Given the description of an element on the screen output the (x, y) to click on. 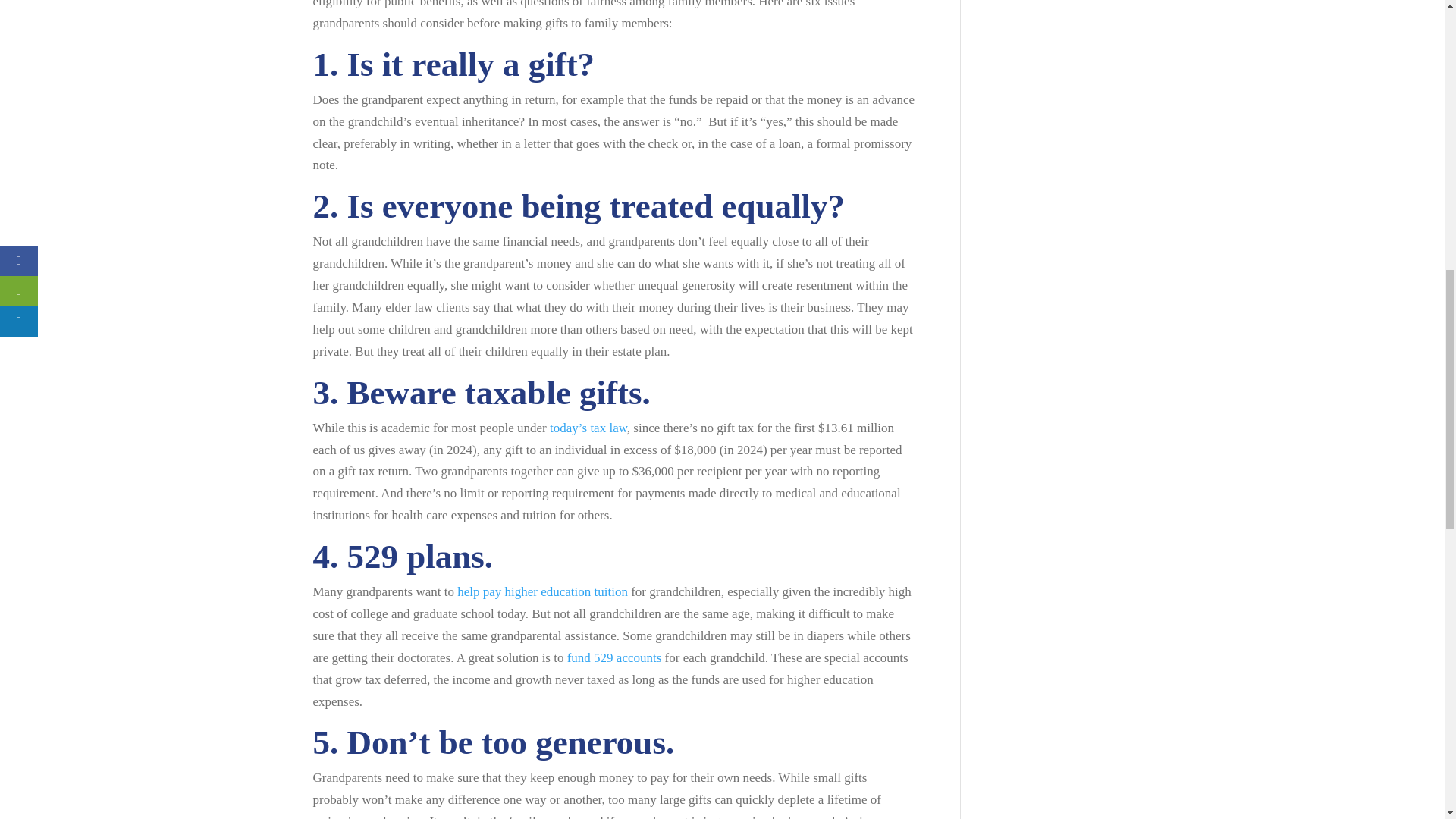
help pay higher education tuition (542, 591)
fund 529 accounts (614, 657)
